Given the description of an element on the screen output the (x, y) to click on. 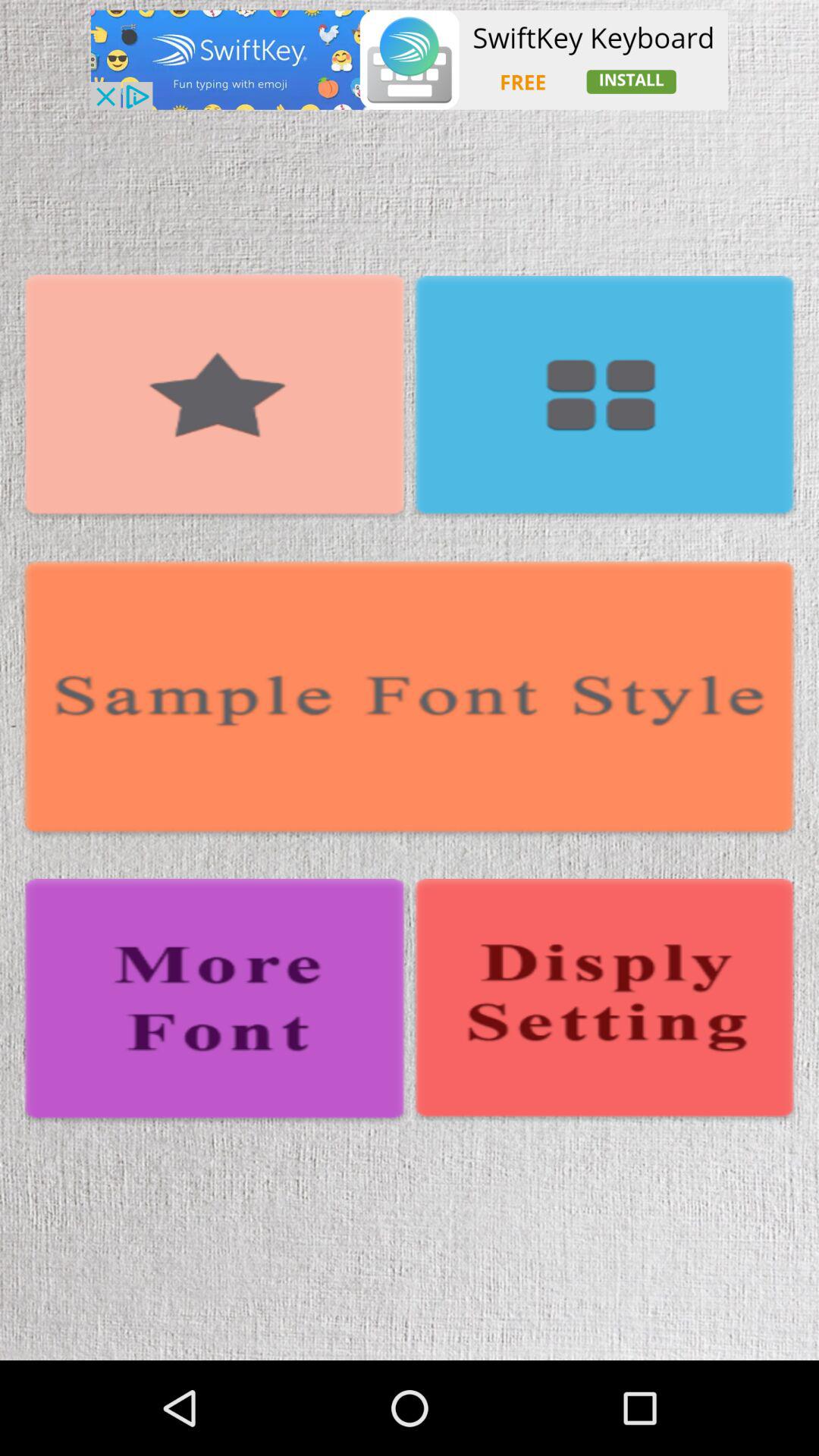
see more fonts (214, 1001)
